Given the description of an element on the screen output the (x, y) to click on. 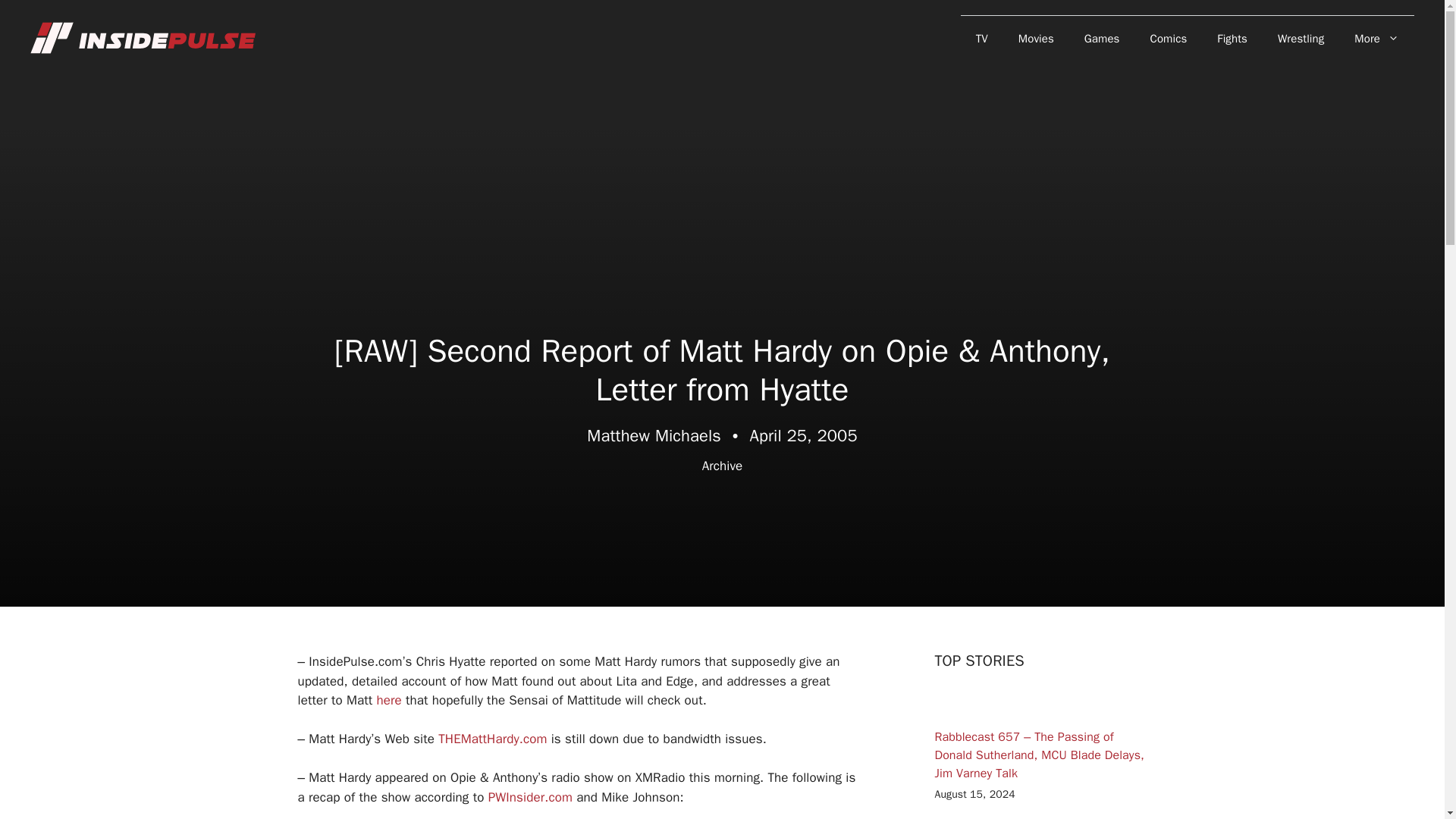
Games (1101, 38)
THEMattHardy.com (492, 738)
More (1376, 38)
PWInsider.com (529, 796)
Inside Pulse (143, 38)
Inside Pulse (143, 37)
here (389, 700)
TV (981, 38)
Comics (1168, 38)
Movies (1035, 38)
